Given the description of an element on the screen output the (x, y) to click on. 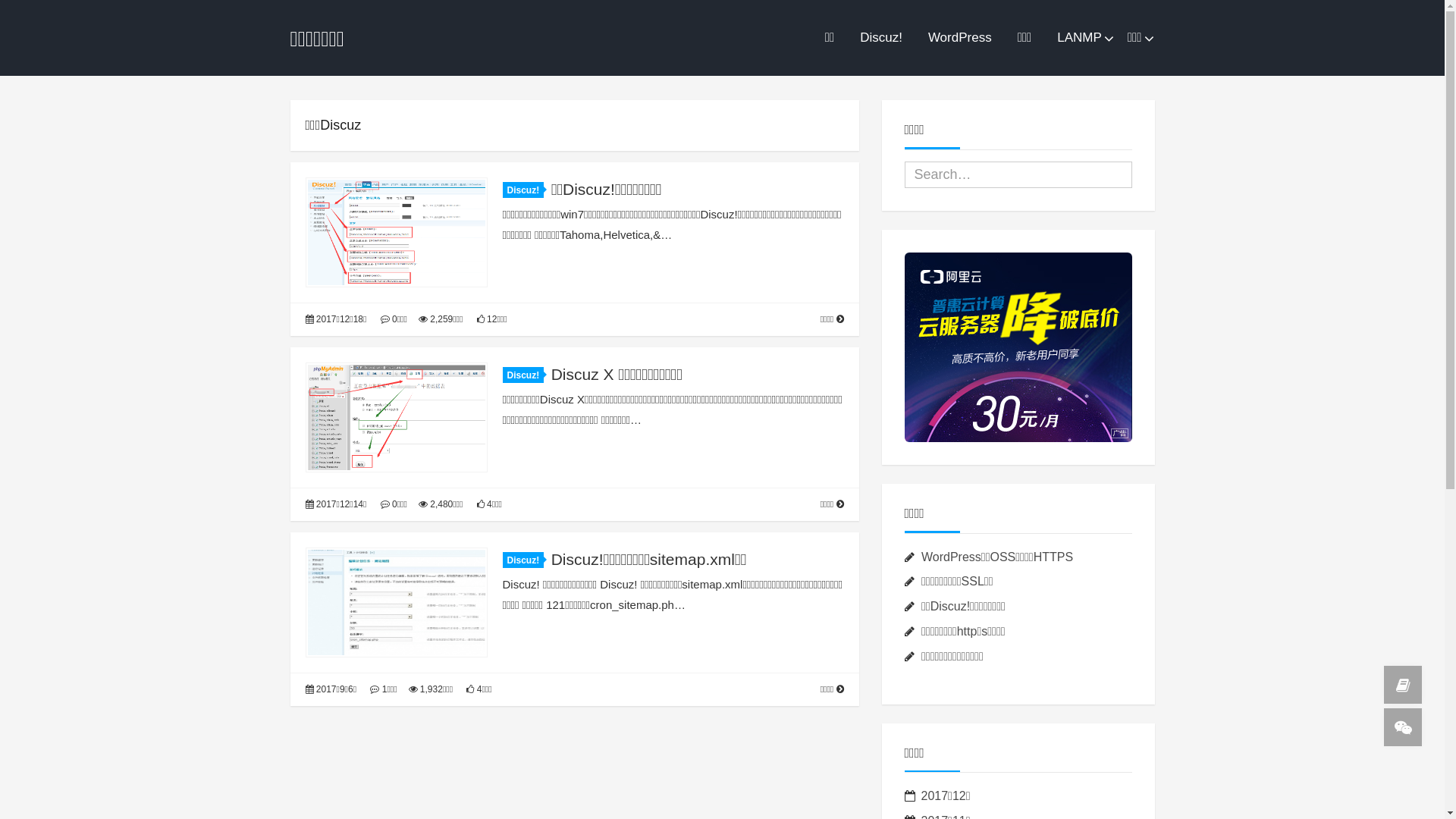
Discuz! Element type: text (522, 189)
Discuz! Element type: text (522, 374)
Discuz! Element type: text (522, 559)
Discuz! Element type: text (881, 37)
LANMP Element type: text (1079, 37)
WordPress Element type: text (959, 37)
